Given the description of an element on the screen output the (x, y) to click on. 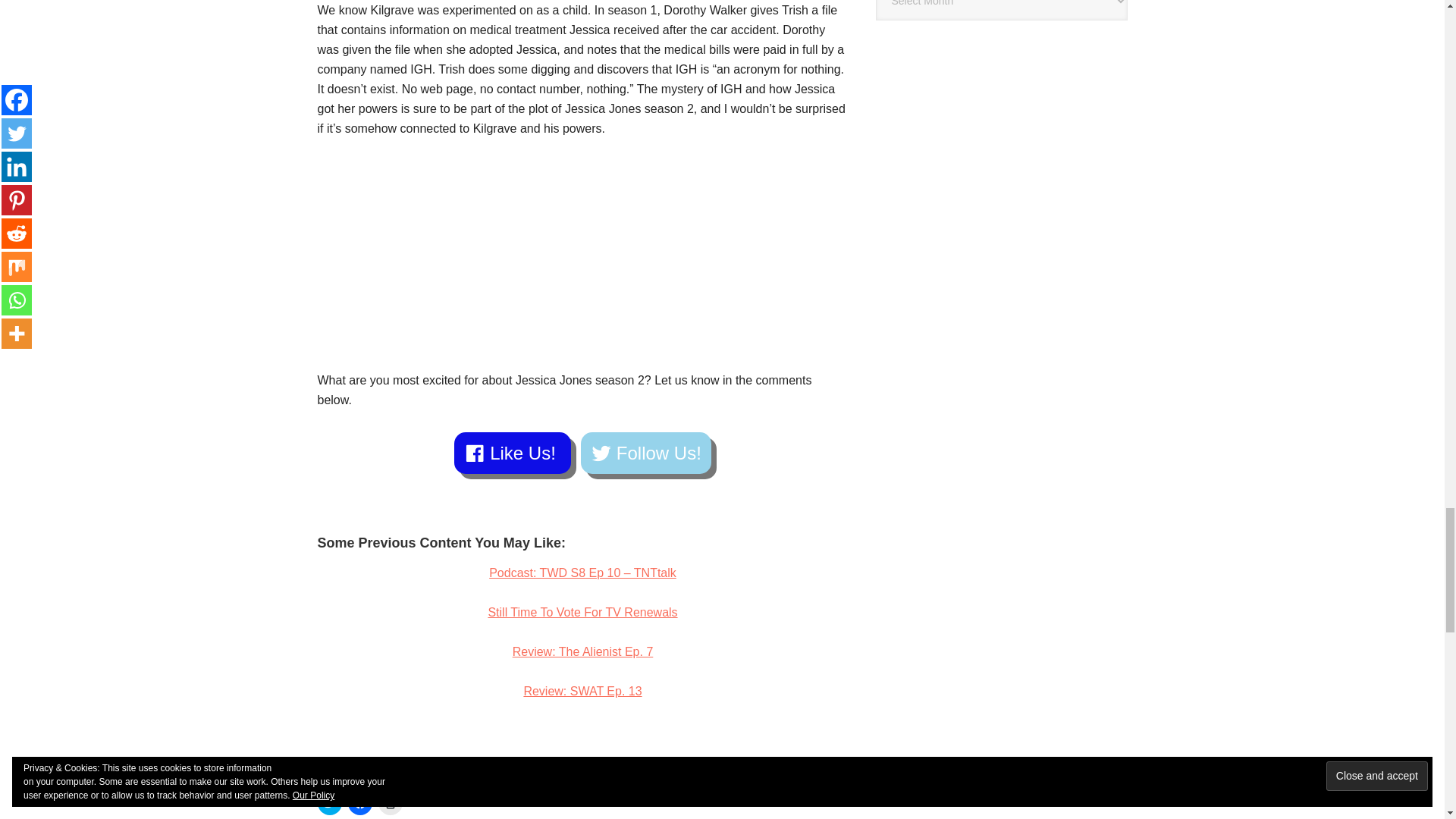
Still Time To Vote For TV Renewals (582, 612)
Like Us!  (512, 453)
Review: SWAT Ep. 13 (582, 690)
Click to share on Facebook (359, 802)
Click to print (389, 802)
Click to share on Twitter (328, 802)
Review: The Alienist Ep. 7 (582, 651)
Follow Us! (645, 453)
